Given the description of an element on the screen output the (x, y) to click on. 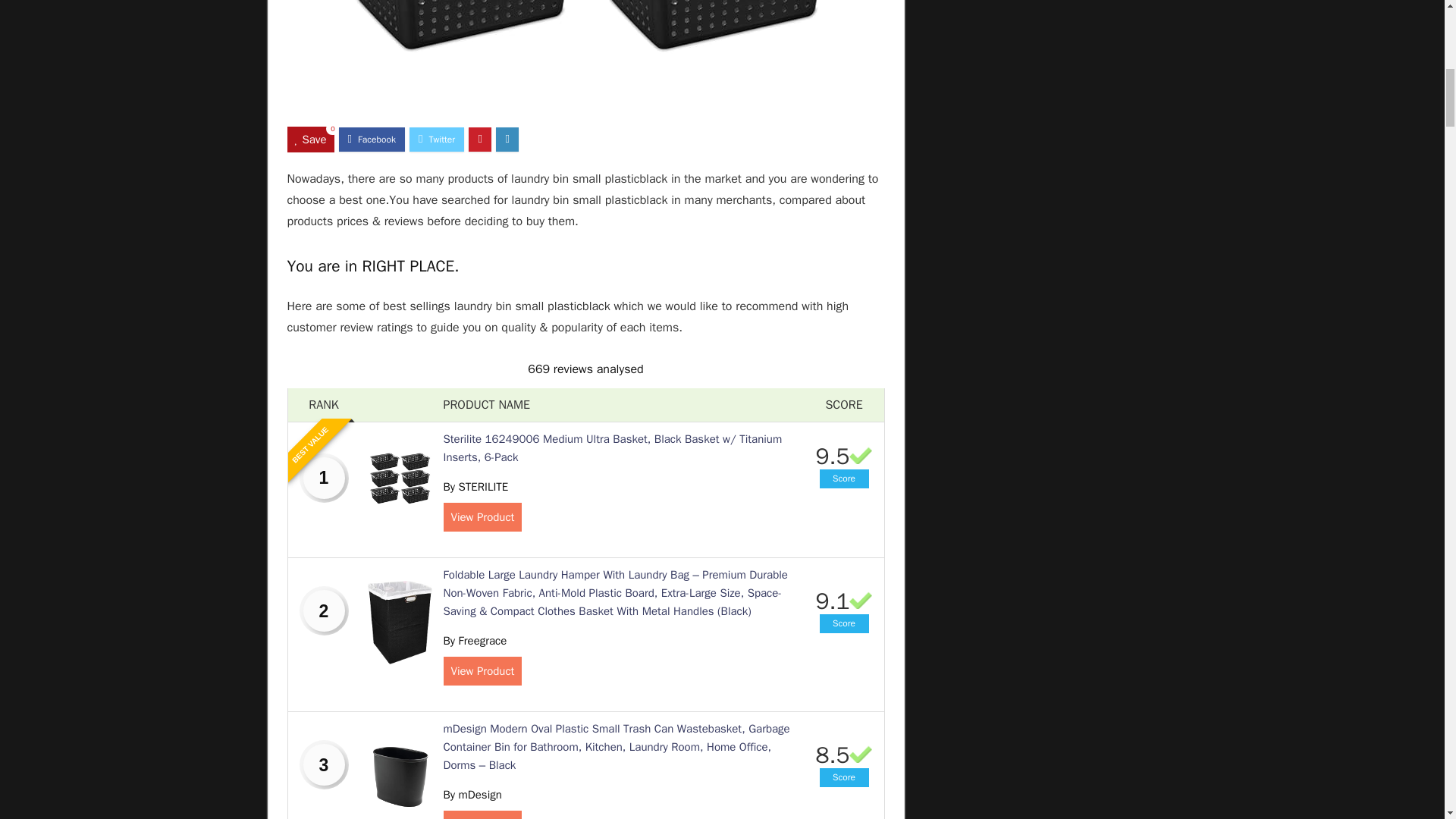
View Product (481, 670)
View Product (481, 516)
By STERILITE (475, 486)
By mDesign (471, 794)
By Freegrace (474, 640)
View Product (481, 814)
